Given the description of an element on the screen output the (x, y) to click on. 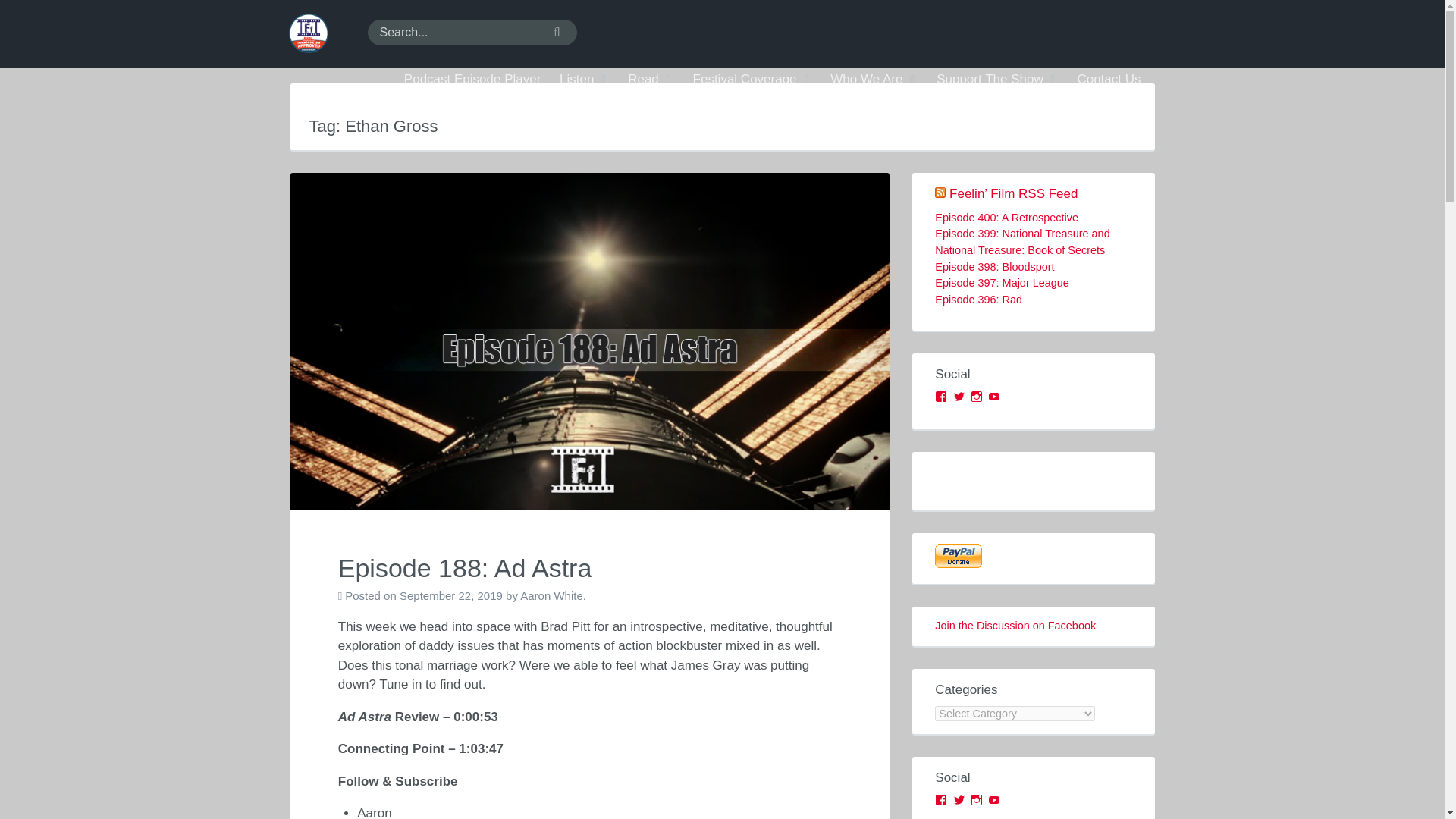
Podcast Episode Player (472, 79)
Festival Coverage (752, 79)
Read (650, 79)
Listen (583, 79)
Search for: (471, 32)
Who We Are (873, 79)
